Given the description of an element on the screen output the (x, y) to click on. 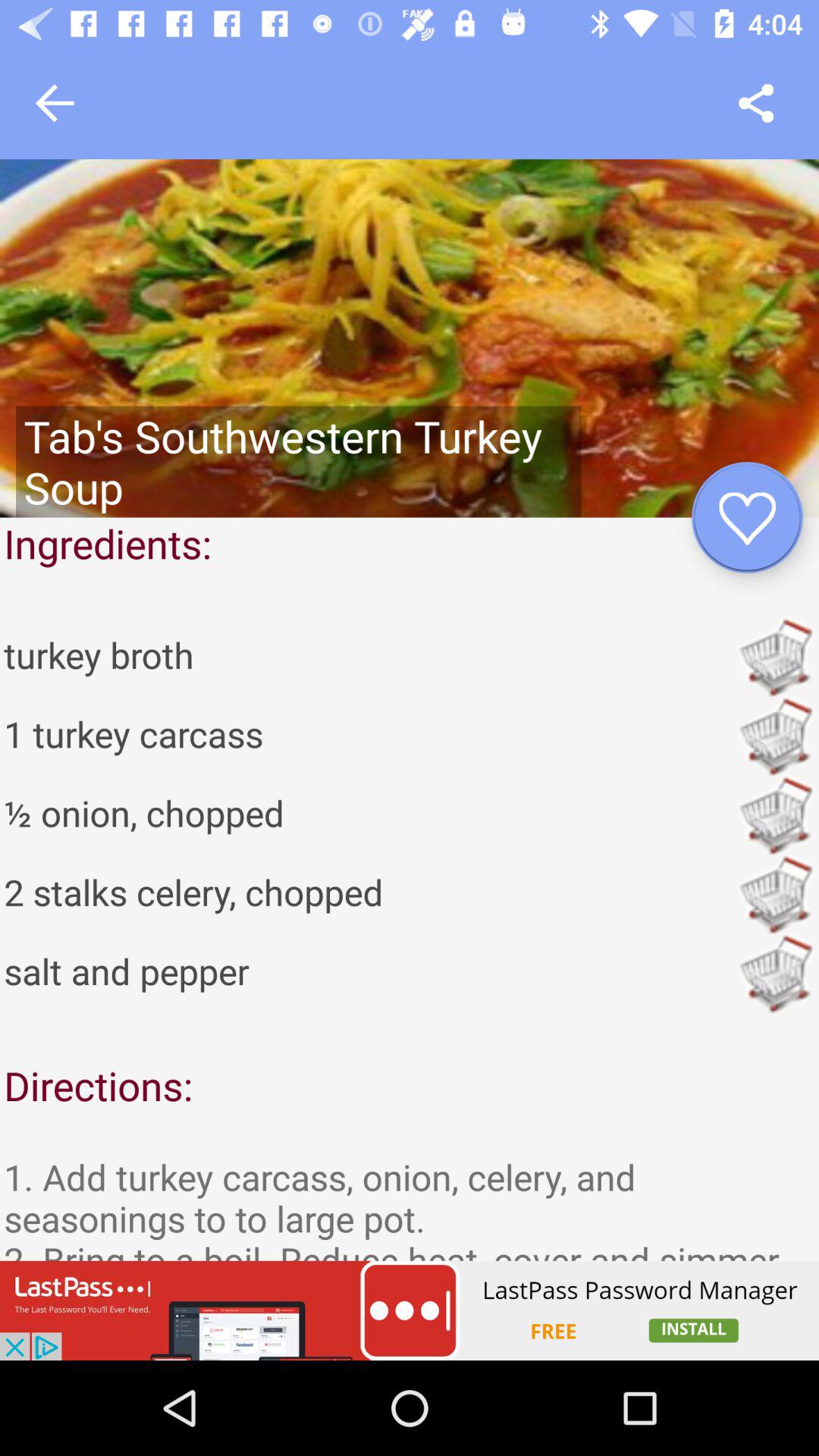
add to favorites (747, 517)
